Given the description of an element on the screen output the (x, y) to click on. 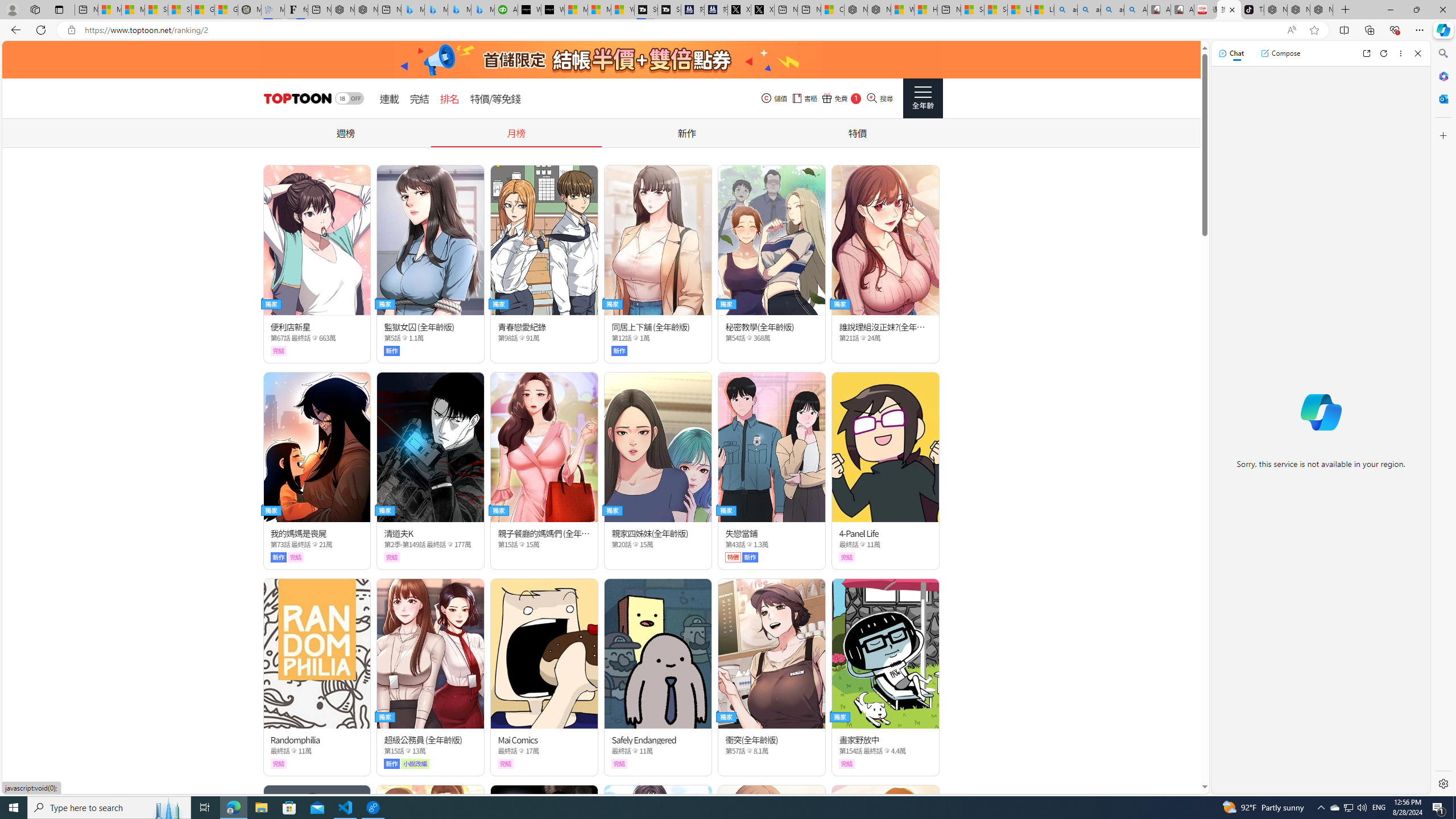
Side bar (1443, 418)
Microsoft 365 (1442, 76)
